Given the description of an element on the screen output the (x, y) to click on. 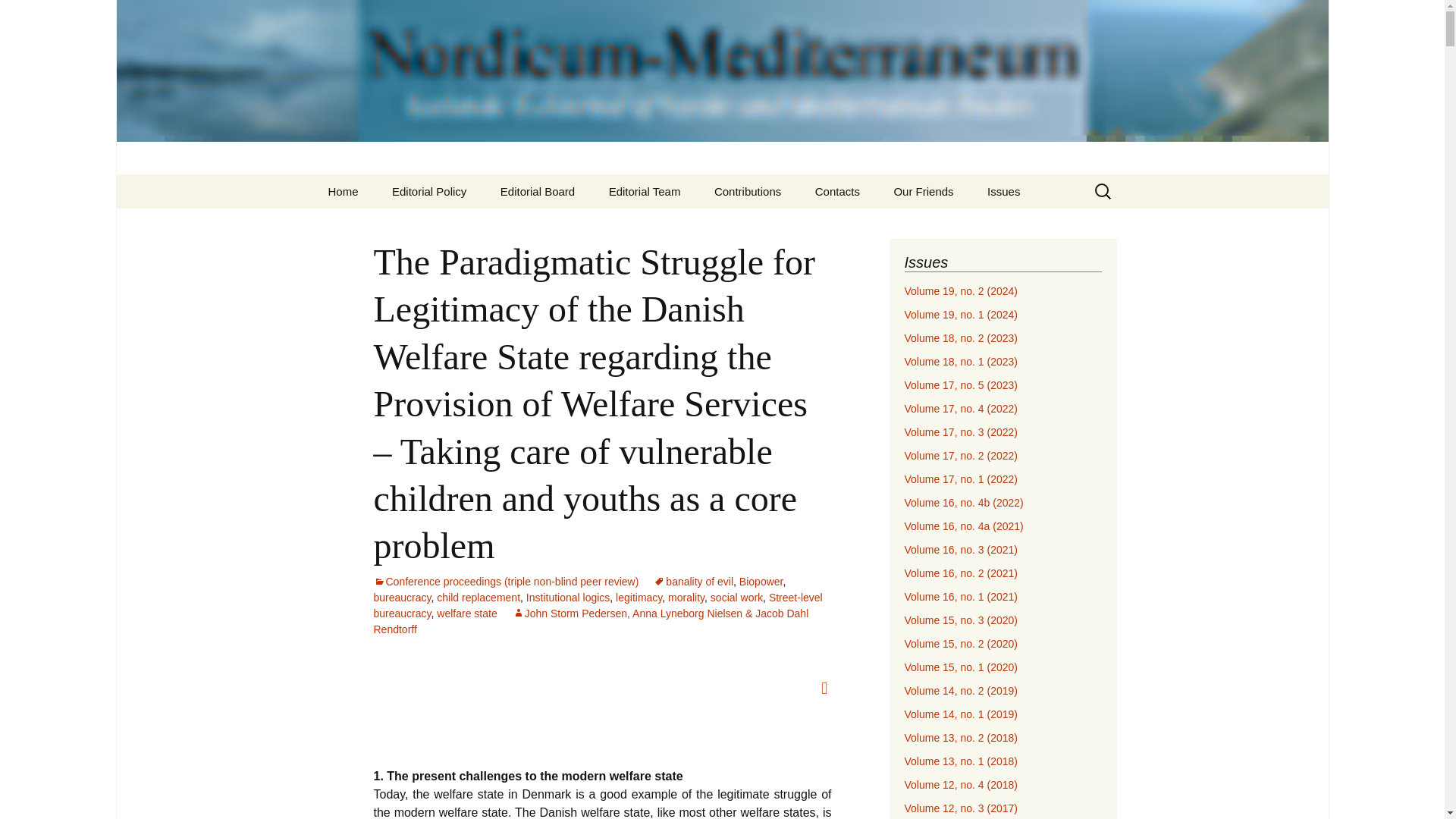
Contacts (837, 191)
Editorial Policy (429, 191)
Editorial Board (536, 191)
Editorial Team (644, 191)
Issues (1003, 191)
Home (342, 191)
Our Friends (922, 191)
Contributions (747, 191)
